Given the description of an element on the screen output the (x, y) to click on. 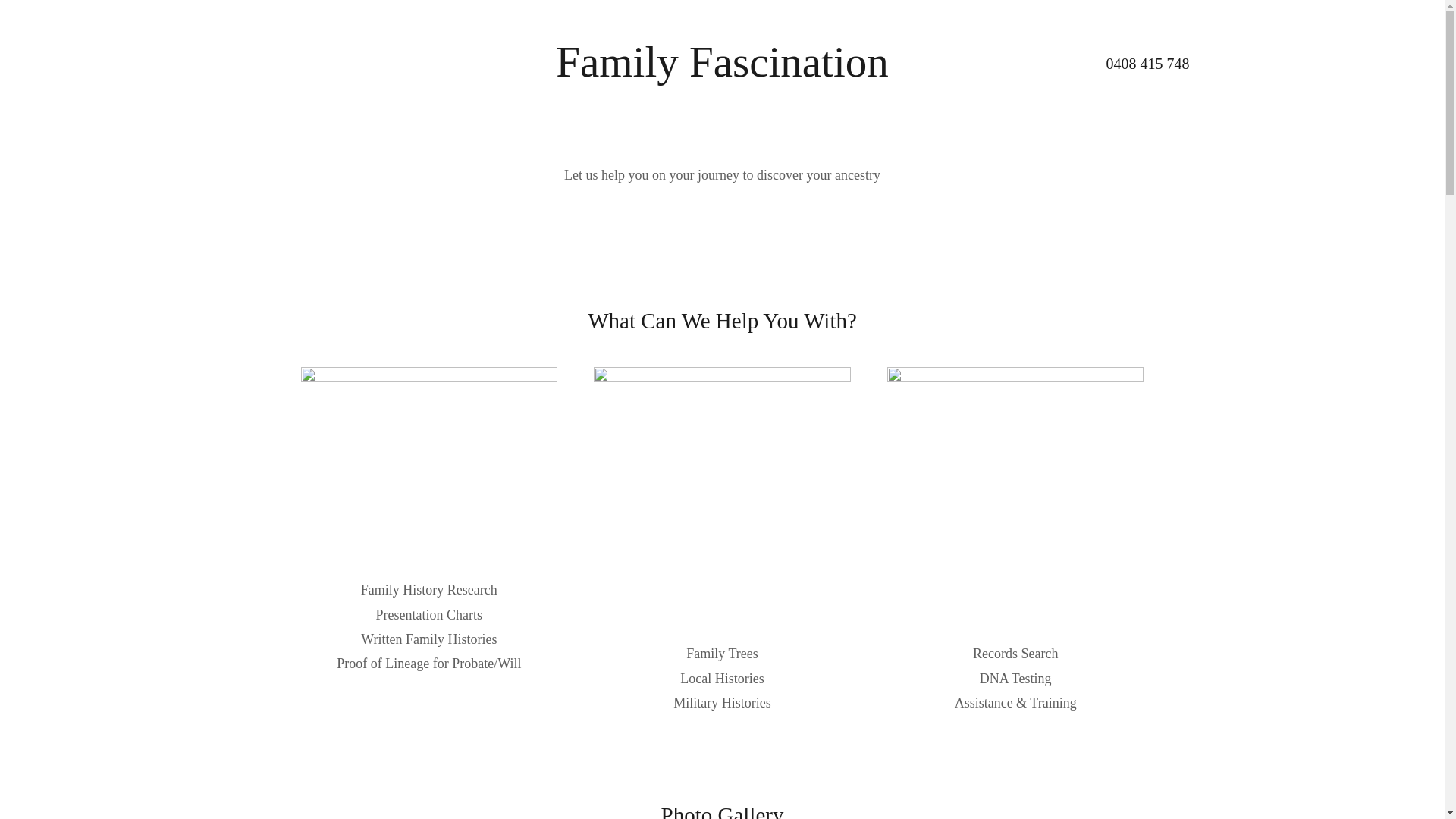
Family Fascination Element type: text (722, 71)
0408 415 748 Element type: text (1147, 63)
